Given the description of an element on the screen output the (x, y) to click on. 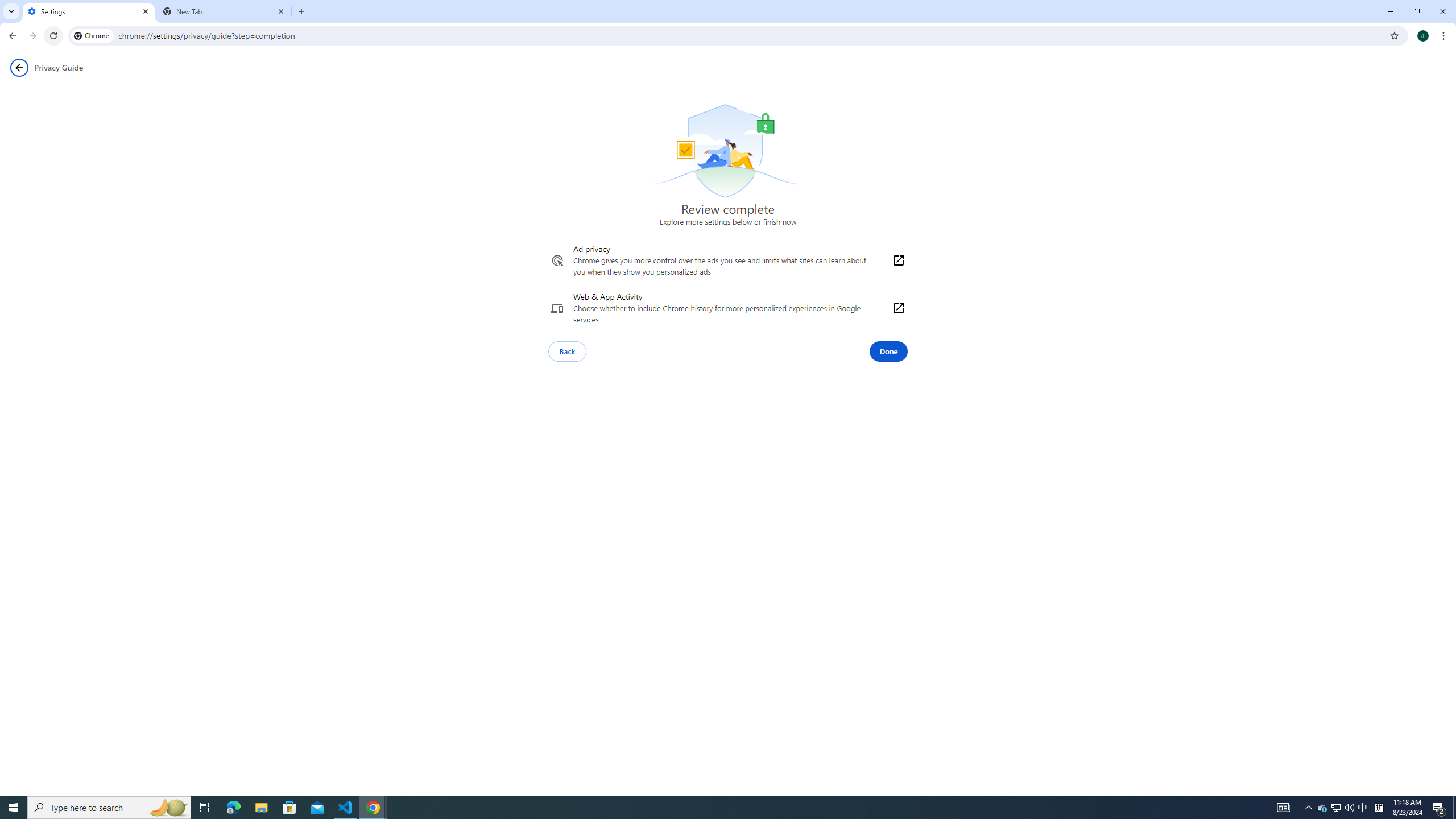
Privacy Guide back button (19, 67)
Done (888, 351)
Settings (88, 11)
